Given the description of an element on the screen output the (x, y) to click on. 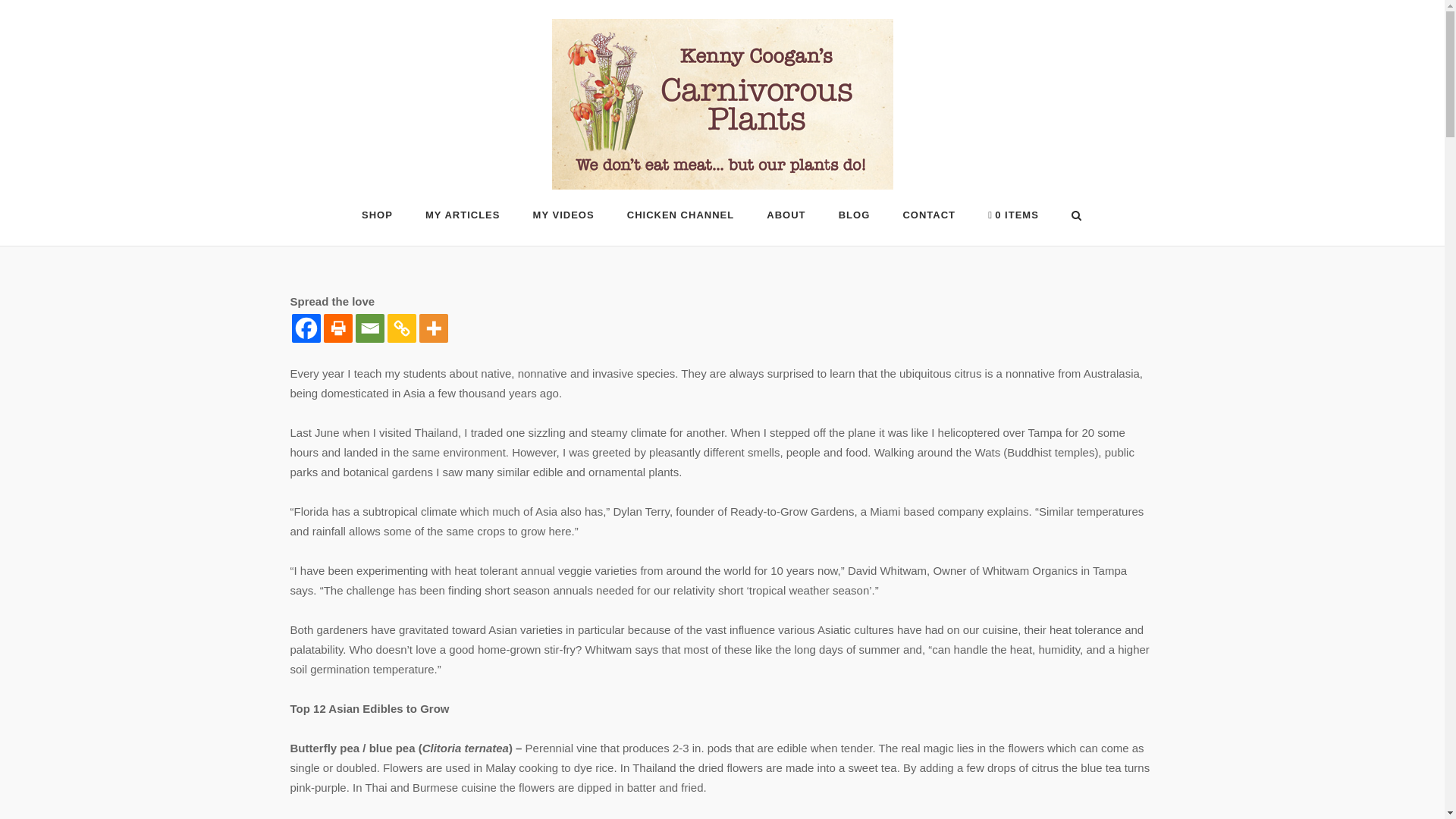
0 ITEMS (1013, 217)
Print (337, 328)
CHICKEN CHANNEL (680, 217)
Facebook (305, 328)
Start shopping (1013, 217)
CONTACT (928, 217)
ABOUT (786, 217)
Email (369, 328)
More (432, 328)
Copy Link (400, 328)
